Given the description of an element on the screen output the (x, y) to click on. 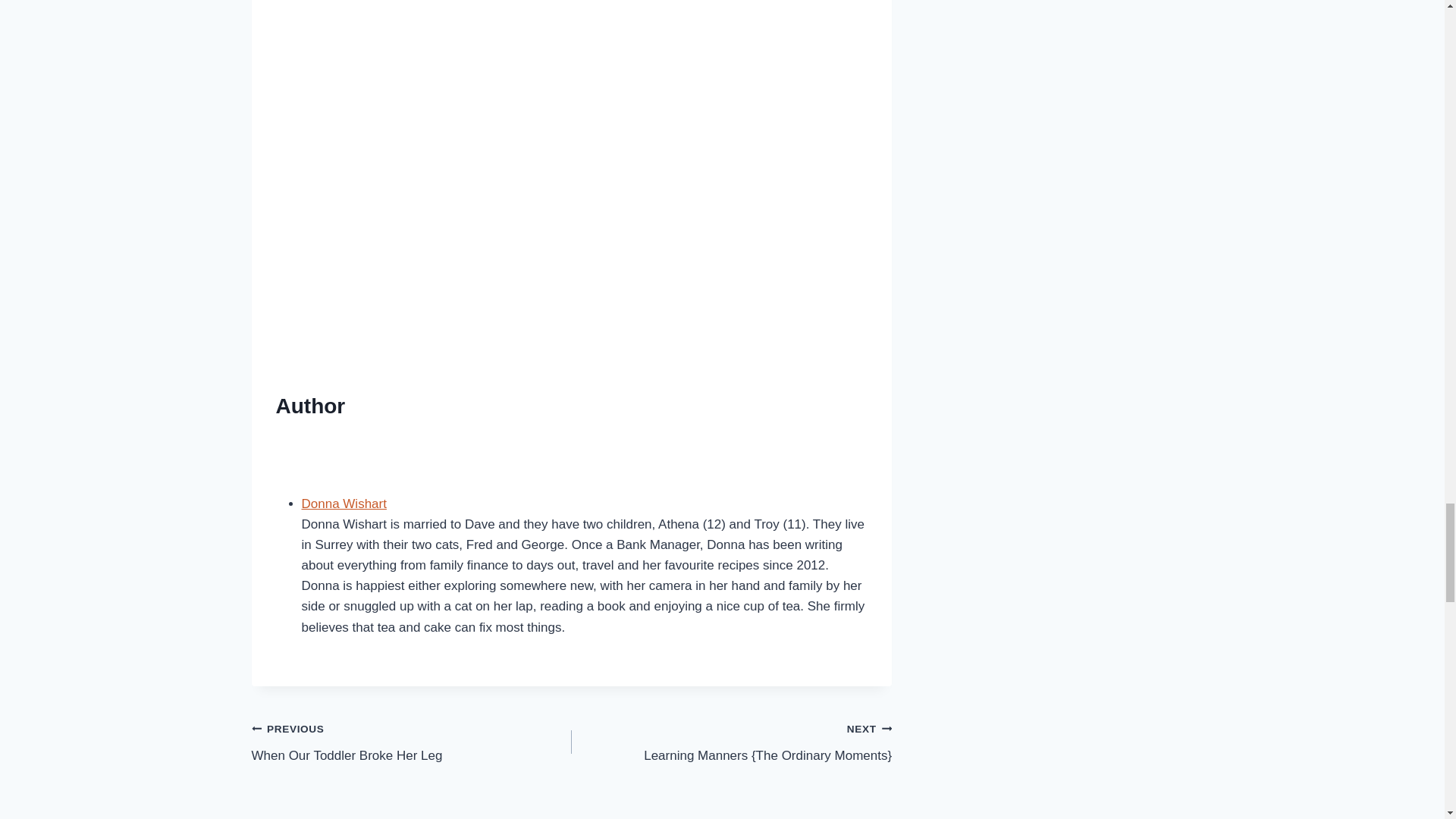
Donna Wishart (344, 503)
Donna Wishart (411, 741)
